Given the description of an element on the screen output the (x, y) to click on. 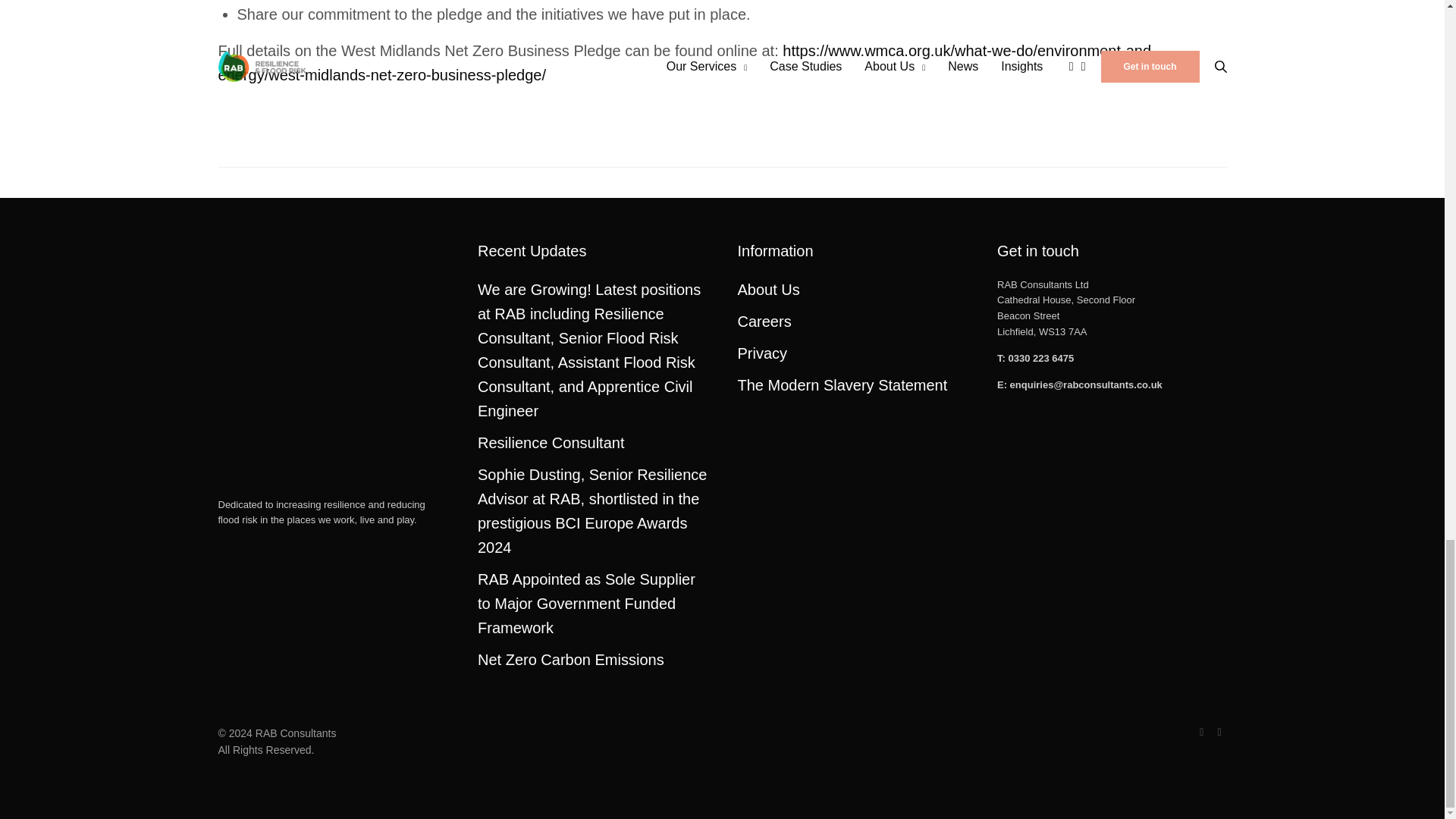
Resilience Consultant (550, 442)
